Given the description of an element on the screen output the (x, y) to click on. 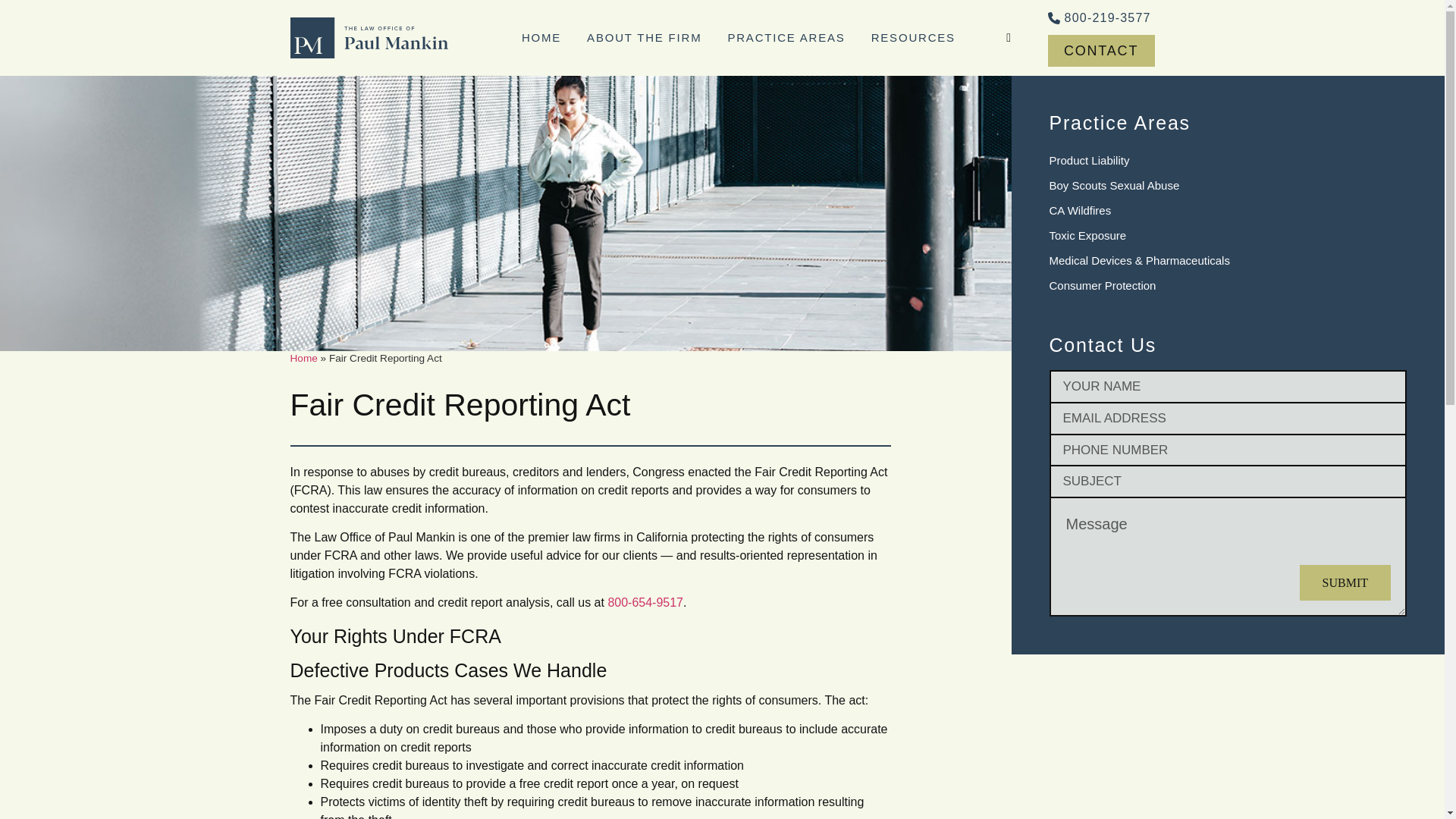
PRACTICE AREAS (785, 37)
HOME (540, 37)
ABOUT THE FIRM (643, 37)
